Given the description of an element on the screen output the (x, y) to click on. 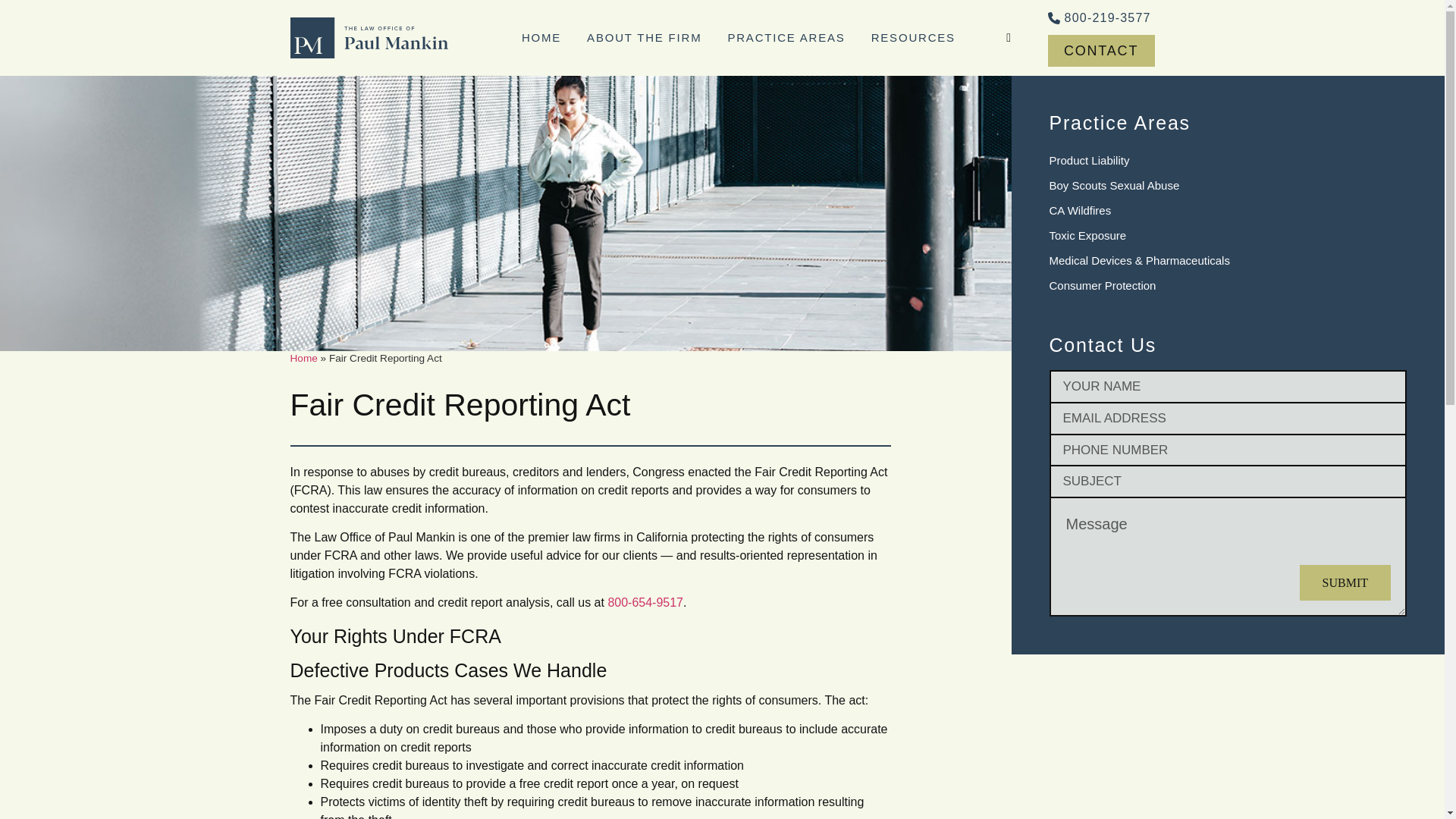
PRACTICE AREAS (785, 37)
HOME (540, 37)
ABOUT THE FIRM (643, 37)
